Given the description of an element on the screen output the (x, y) to click on. 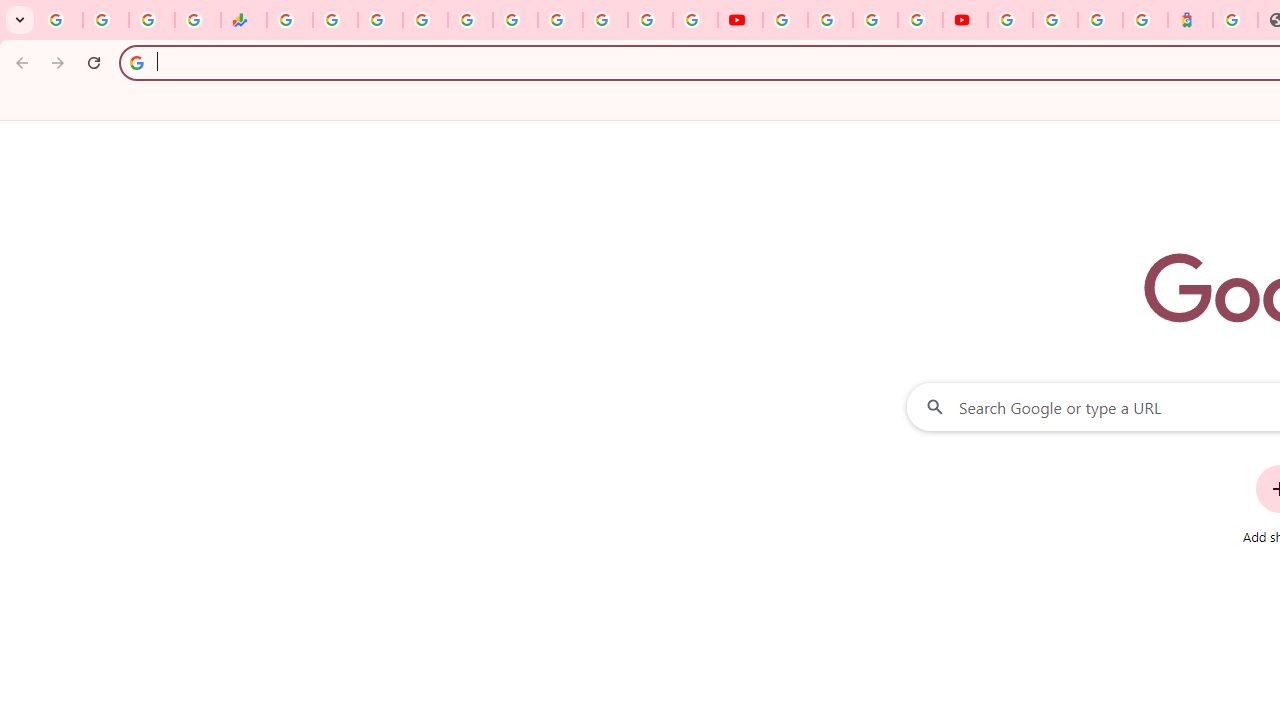
Google Account Help (829, 20)
Google Workspace Admin Community (60, 20)
Create your Google Account (875, 20)
Sign in - Google Accounts (1055, 20)
